Given the description of an element on the screen output the (x, y) to click on. 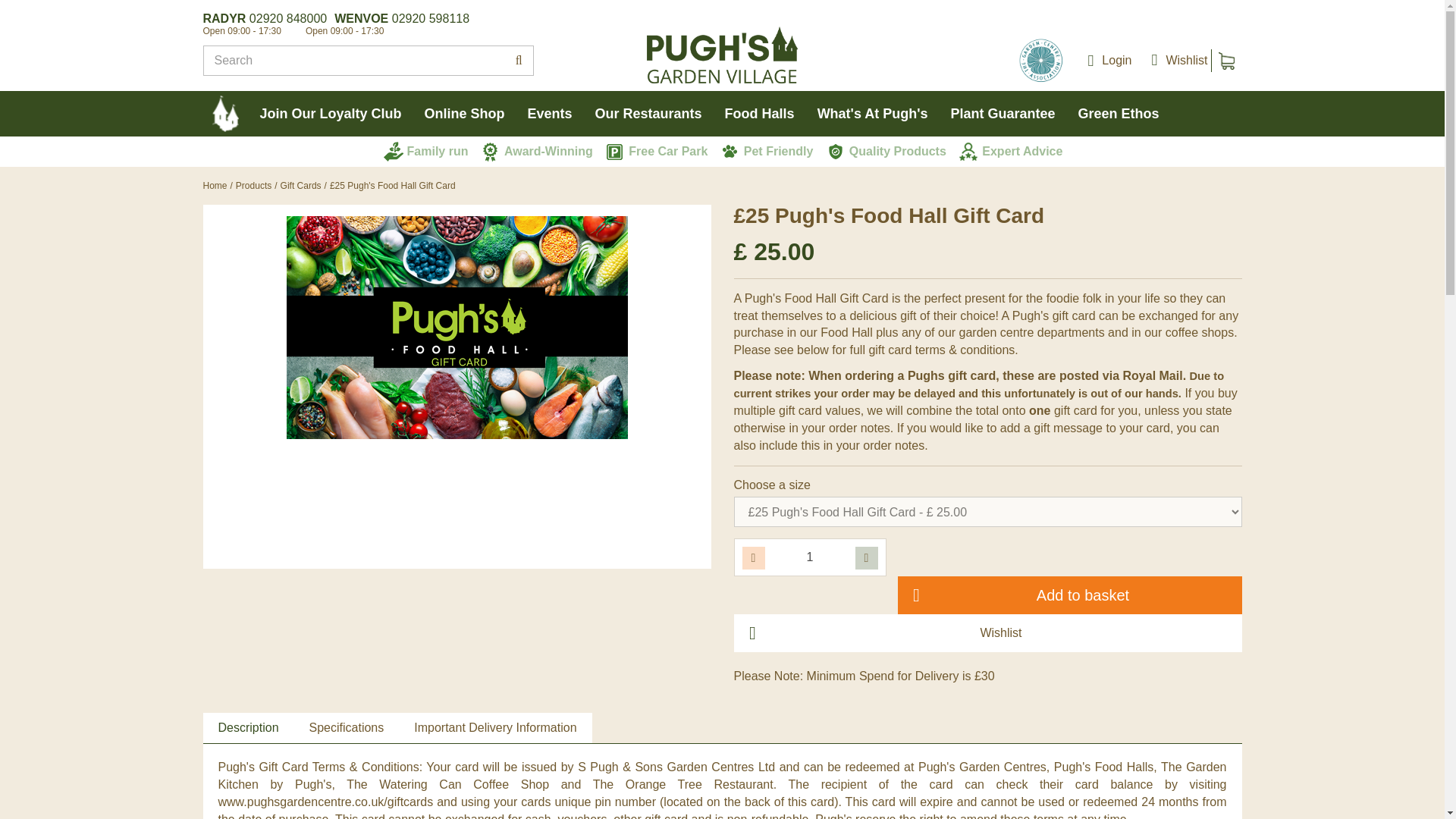
No items in wishlist (1174, 60)
Products (252, 185)
Gift Cards (301, 185)
Go to the shopping cart (1225, 60)
Online Shop (464, 113)
Join Our Loyalty Club (330, 113)
Home (215, 185)
02920 598118 (429, 18)
02920 848000 (287, 18)
WENVOE (361, 18)
Add to basket (1069, 595)
Home (215, 185)
RADYR (224, 18)
Our Restaurants (648, 113)
